Given the description of an element on the screen output the (x, y) to click on. 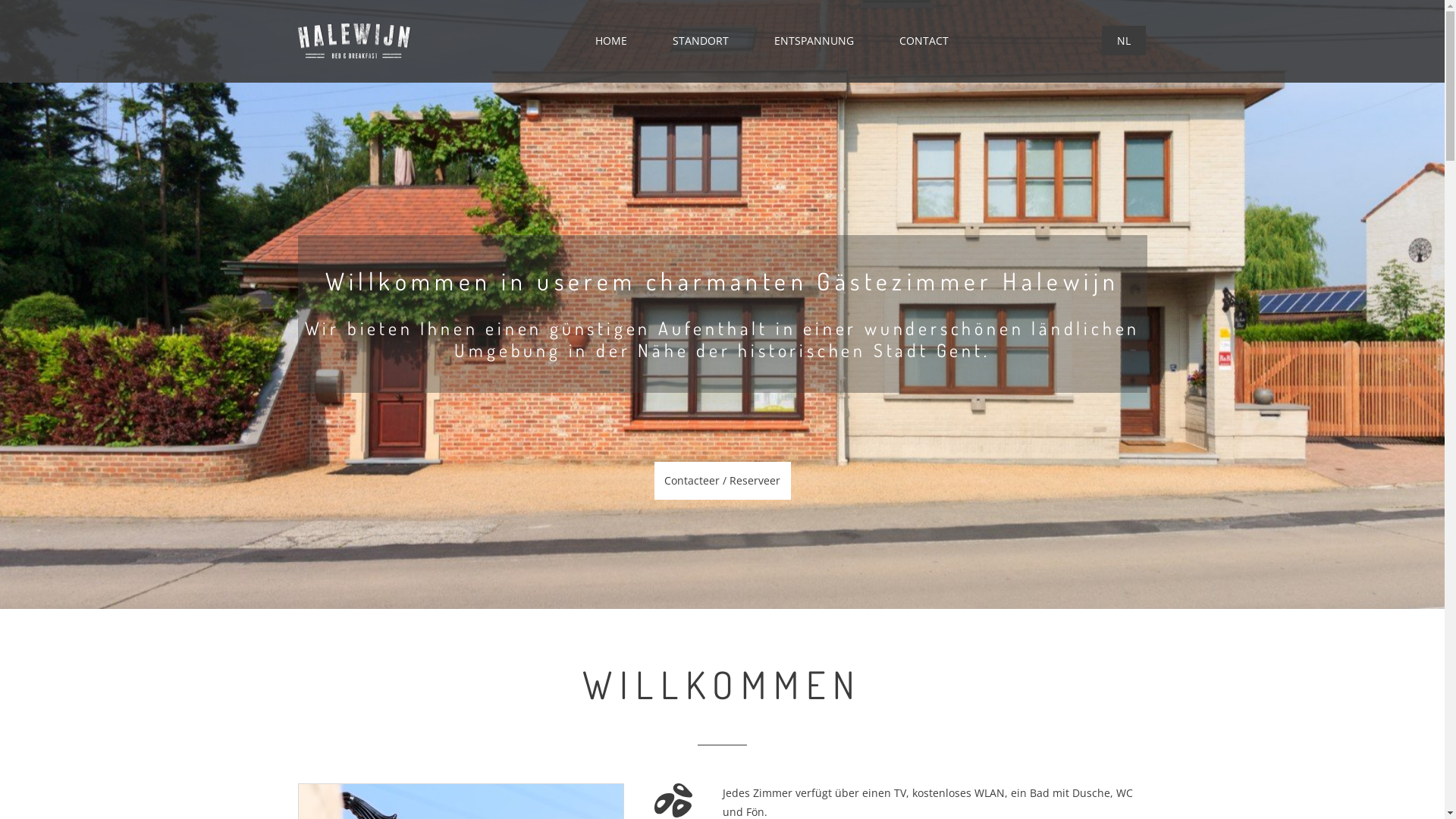
ENTSPANNUNG Element type: text (813, 40)
Contacteer / Reserveer Element type: text (721, 480)
NL Element type: text (1123, 40)
STANDORT Element type: text (699, 40)
HOME Element type: text (610, 40)
CONTACT Element type: text (923, 40)
